Given the description of an element on the screen output the (x, y) to click on. 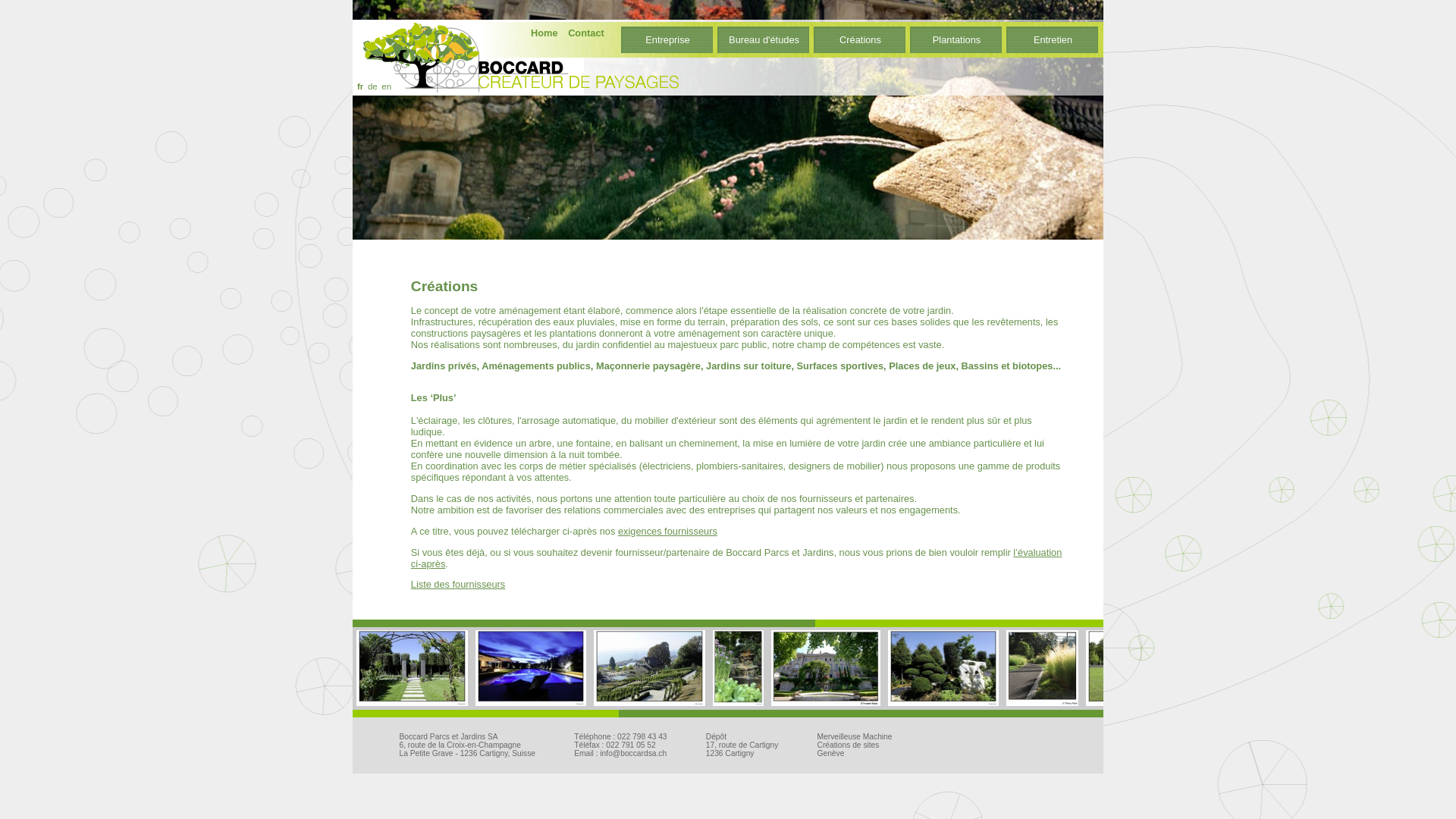
Liste des fournisseurs Element type: text (458, 583)
exigences fournisseurs Element type: text (667, 530)
Contact Element type: text (586, 30)
Entreprise Element type: text (667, 36)
fr Element type: text (360, 86)
de Element type: text (372, 86)
Home Element type: text (544, 30)
info@boccardsa.ch Element type: text (632, 753)
Plantations Element type: text (956, 36)
Entretien Element type: text (1052, 36)
en Element type: text (386, 86)
